Given the description of an element on the screen output the (x, y) to click on. 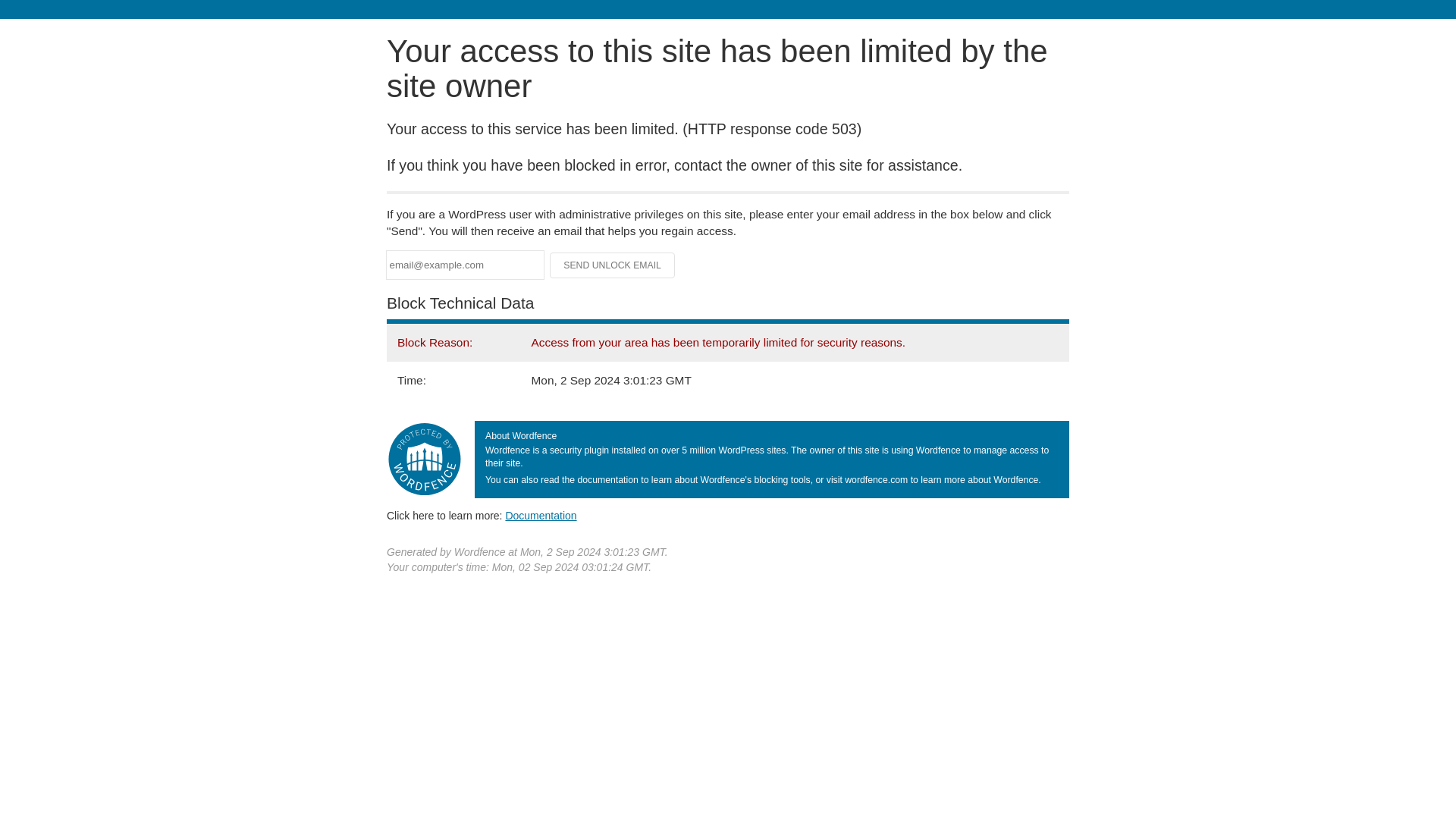
Send Unlock Email (612, 265)
Send Unlock Email (612, 265)
Documentation (540, 515)
